Given the description of an element on the screen output the (x, y) to click on. 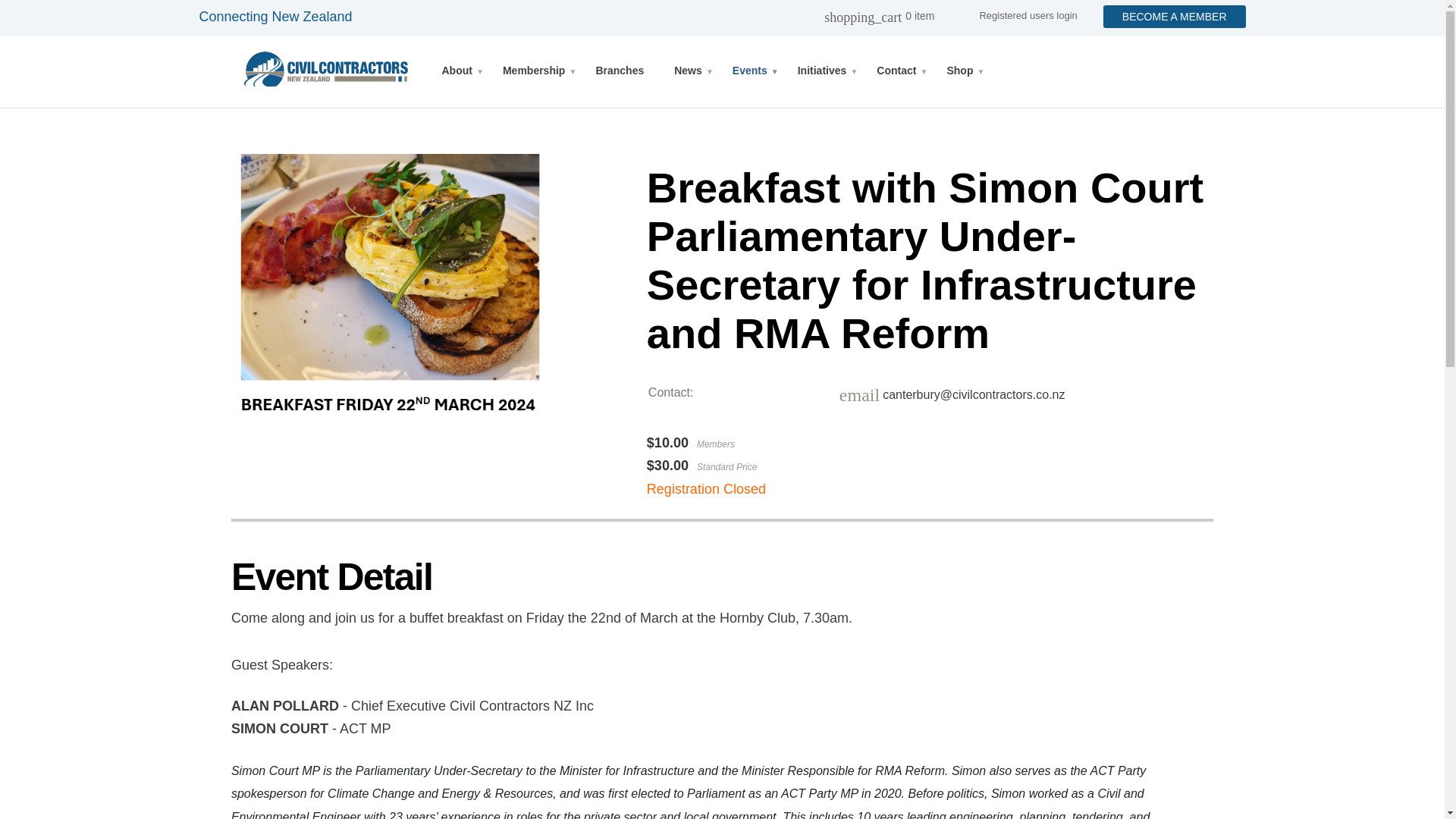
Branches (619, 70)
News (688, 70)
BECOME A MEMBER (1174, 15)
Initiatives (822, 70)
About (456, 70)
Events (750, 70)
Registered users login (1027, 15)
Membership (533, 70)
